Given the description of an element on the screen output the (x, y) to click on. 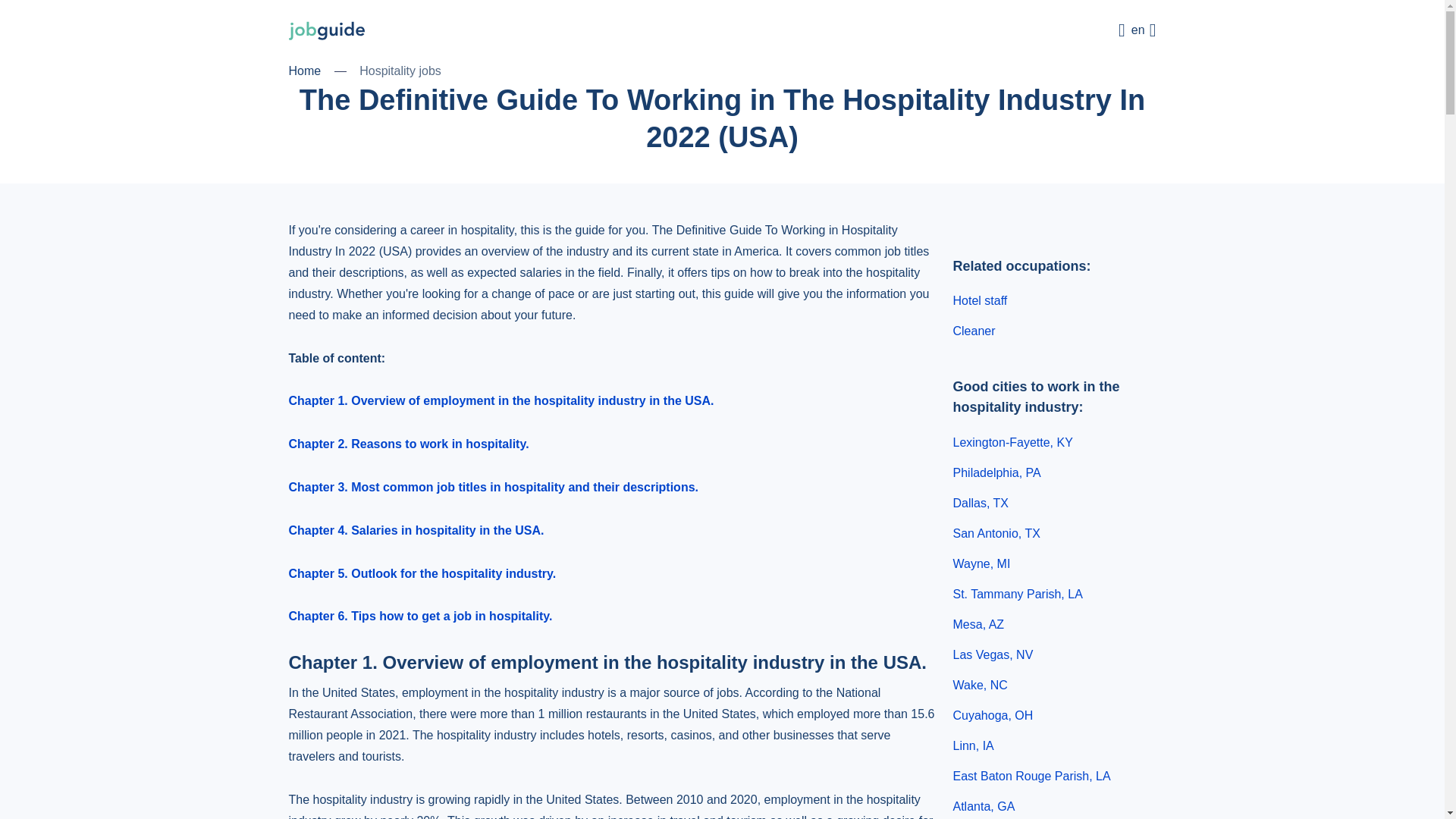
Chapter 6. Tips how to get a job in hospitality. (419, 615)
Mesa, AZ (978, 623)
Lexington-Fayette, KY (1011, 440)
Chapter 5. Outlook for the hospitality industry. (422, 573)
St. Tammany Parish, LA (1016, 593)
Chapter 4. Salaries in hospitality in the USA. (415, 530)
Cuyahoga, OH (992, 714)
East Baton Rouge Parish, LA (1030, 775)
Philadelphia, PA (996, 472)
